Given the description of an element on the screen output the (x, y) to click on. 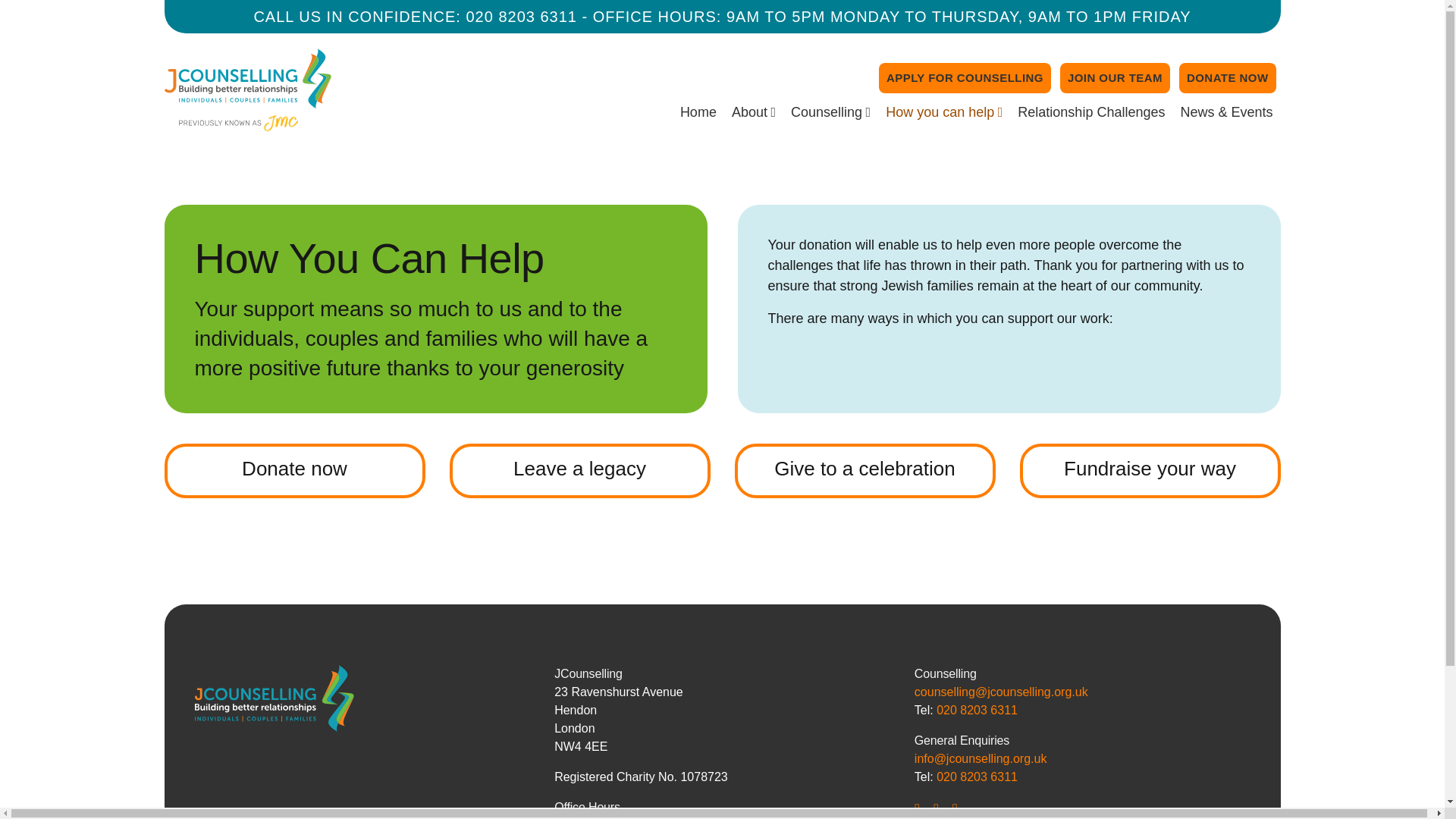
Donate now (294, 470)
Relationship Challenges (1091, 112)
020 8203 6311 (520, 16)
About (753, 112)
Counselling (830, 112)
JCounselling (202, 146)
JOIN OUR TEAM (1114, 78)
How you can help (943, 112)
Give to a celebration (863, 470)
Home (697, 112)
Leave a legacy (578, 470)
DONATE NOW (1227, 78)
APPLY FOR COUNSELLING (965, 78)
